Given the description of an element on the screen output the (x, y) to click on. 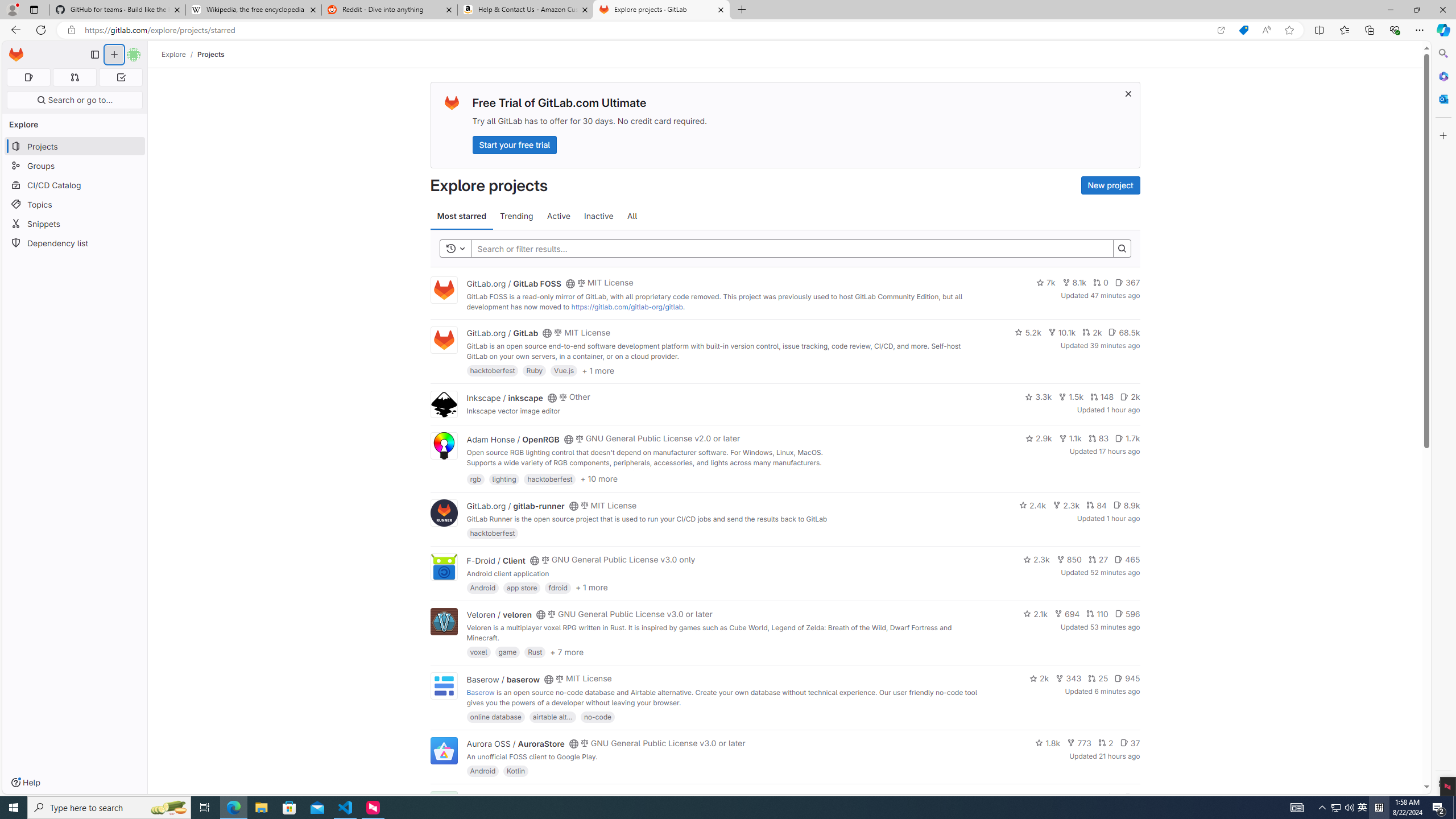
Baserow / baserow (502, 678)
1.4k (1054, 797)
Ruby (533, 370)
465 (1127, 559)
rgb (475, 478)
GitLab.org / gitlab-runner (514, 506)
Class: project (443, 750)
2.1k (1035, 613)
84 (1096, 504)
app store (521, 587)
343 (1068, 678)
Create new... (113, 54)
